Given the description of an element on the screen output the (x, y) to click on. 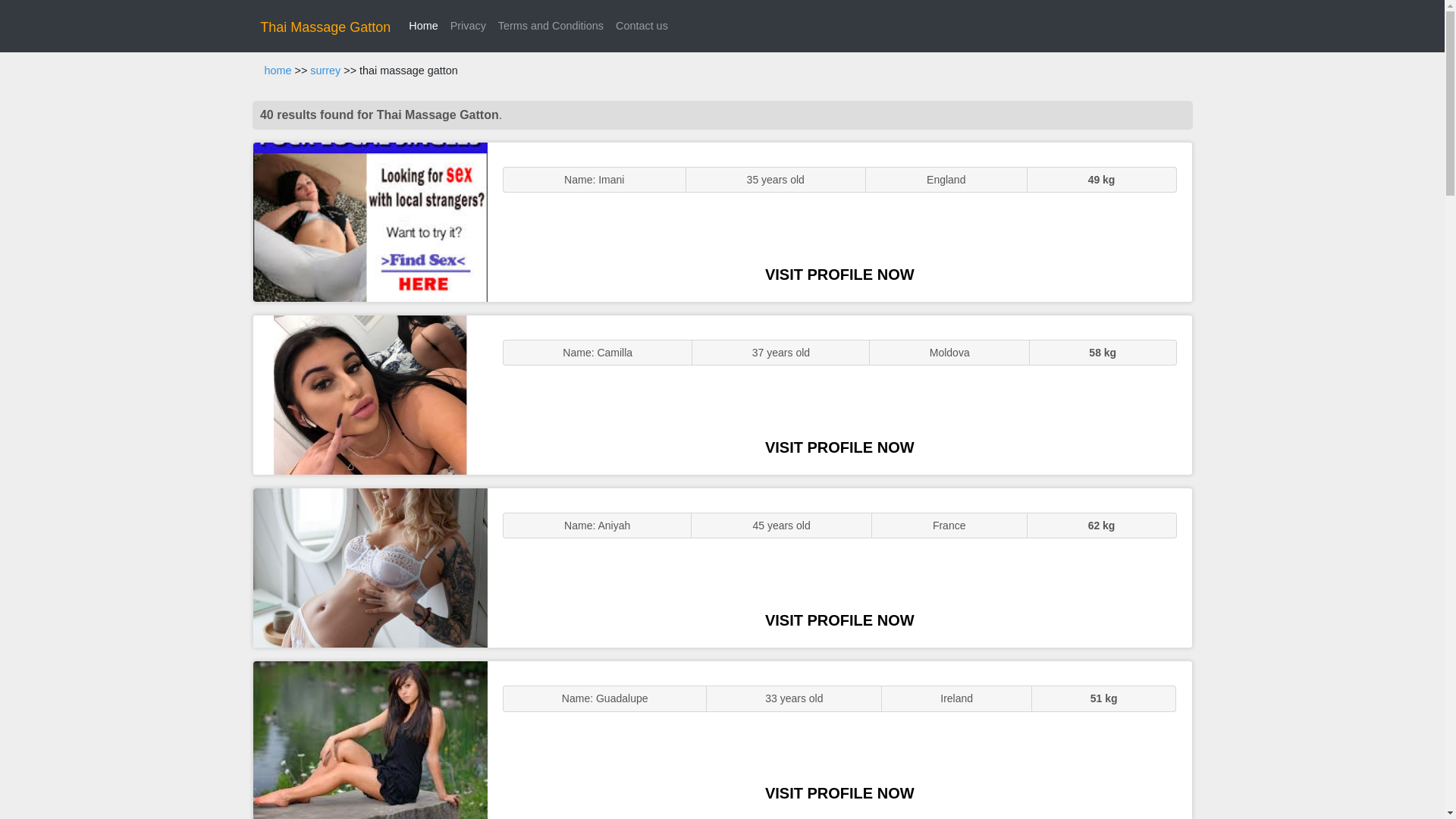
VISIT PROFILE NOW (839, 446)
Terms and Conditions (551, 25)
Sexy (370, 567)
Thai Massage Gatton (325, 27)
Contact us (642, 25)
GFE (370, 395)
home (277, 70)
surrey (325, 70)
VISIT PROFILE NOW (839, 792)
Sluts (370, 739)
 ENGLISH STUNNER (370, 222)
Privacy (468, 25)
VISIT PROFILE NOW (839, 274)
VISIT PROFILE NOW (839, 619)
